Given the description of an element on the screen output the (x, y) to click on. 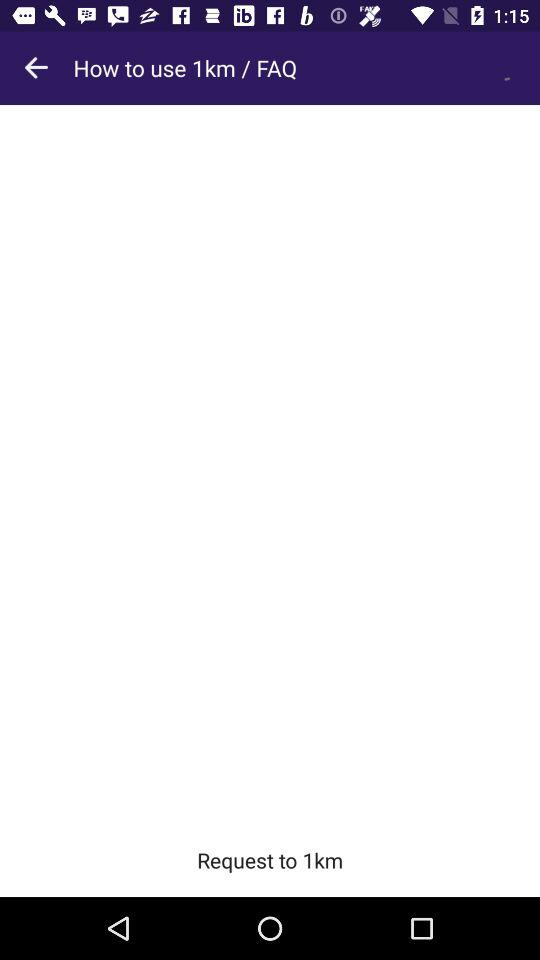
click icon above the request to 1km (270, 464)
